Given the description of an element on the screen output the (x, y) to click on. 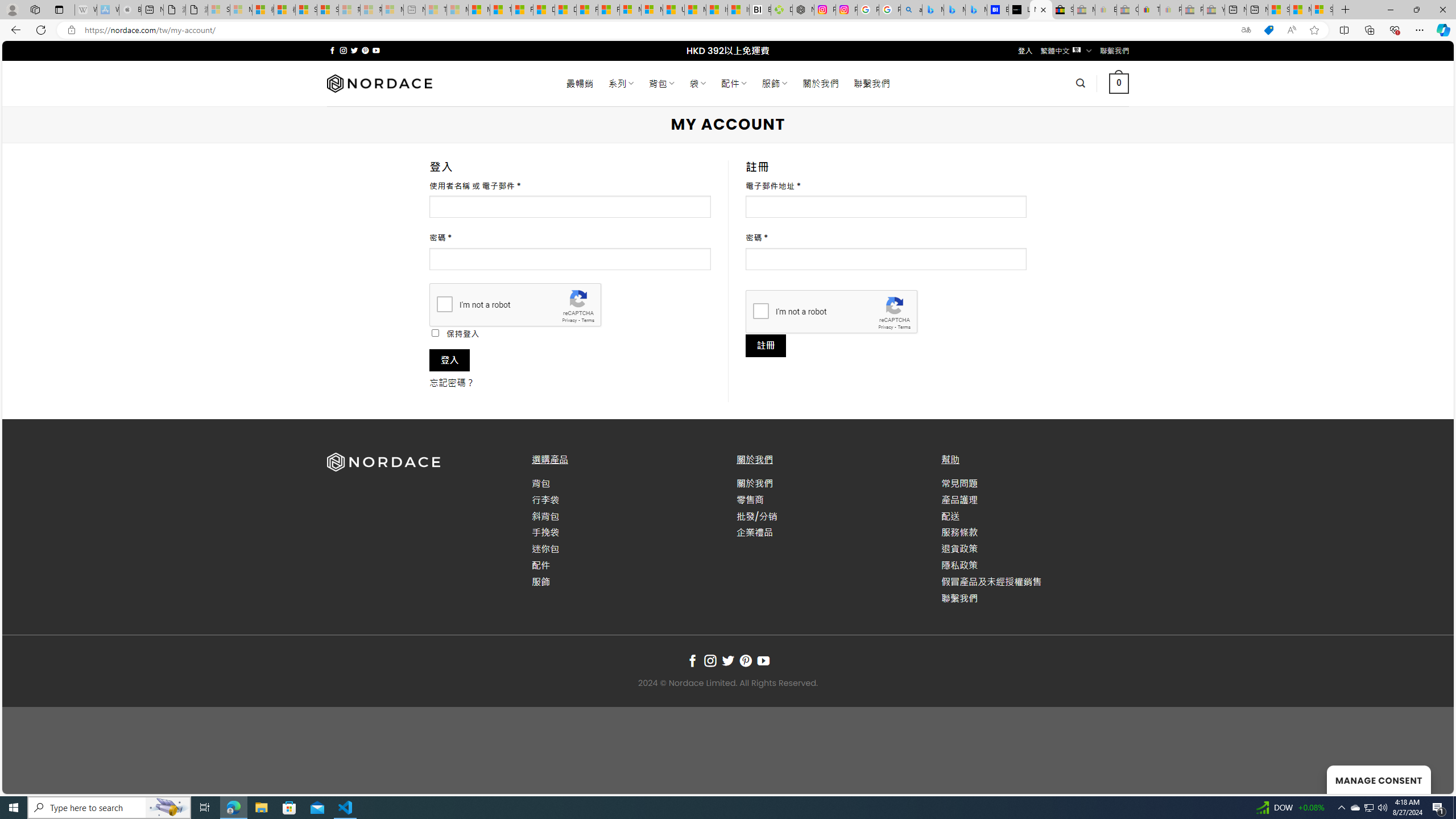
Threats and offensive language policy | eBay (1149, 9)
  0   (1118, 83)
